Given the description of an element on the screen output the (x, y) to click on. 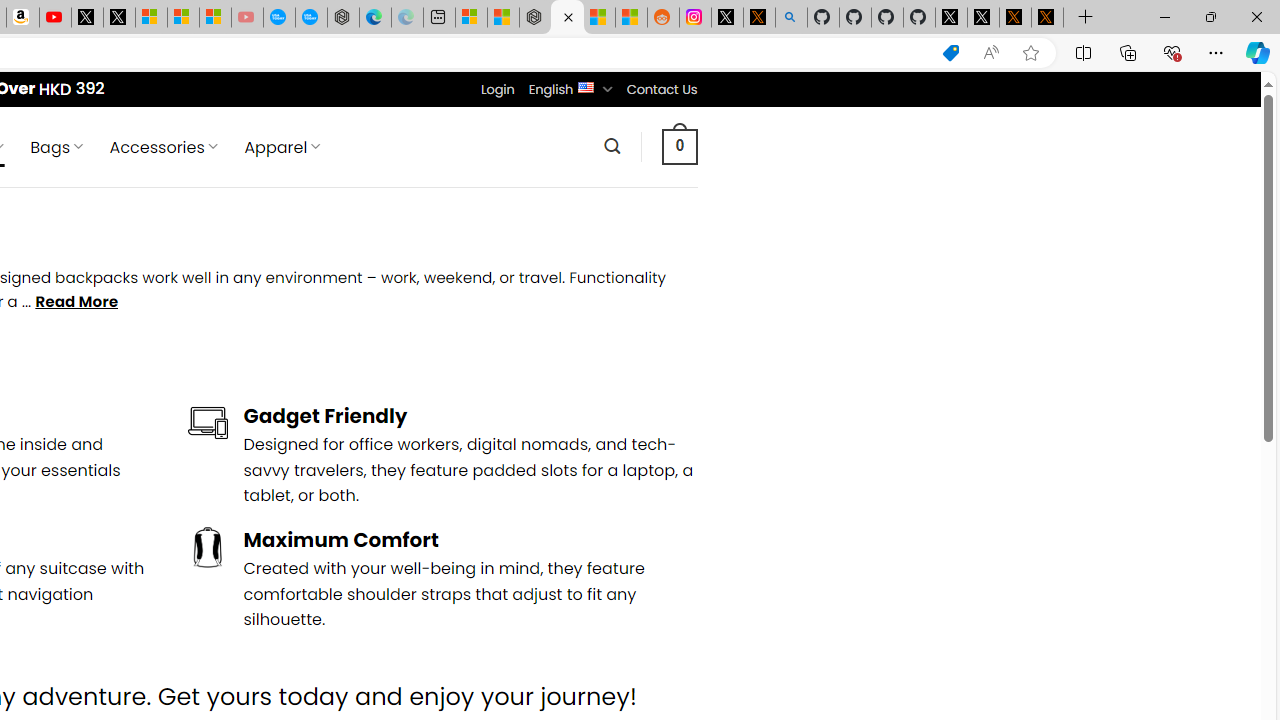
Nordace - Nordace has arrived Hong Kong (343, 17)
This site has coupons! Shopping in Microsoft Edge (950, 53)
English (586, 86)
Read More (76, 301)
Gloom - YouTube - Sleeping (246, 17)
Contact Us (661, 89)
